Given the description of an element on the screen output the (x, y) to click on. 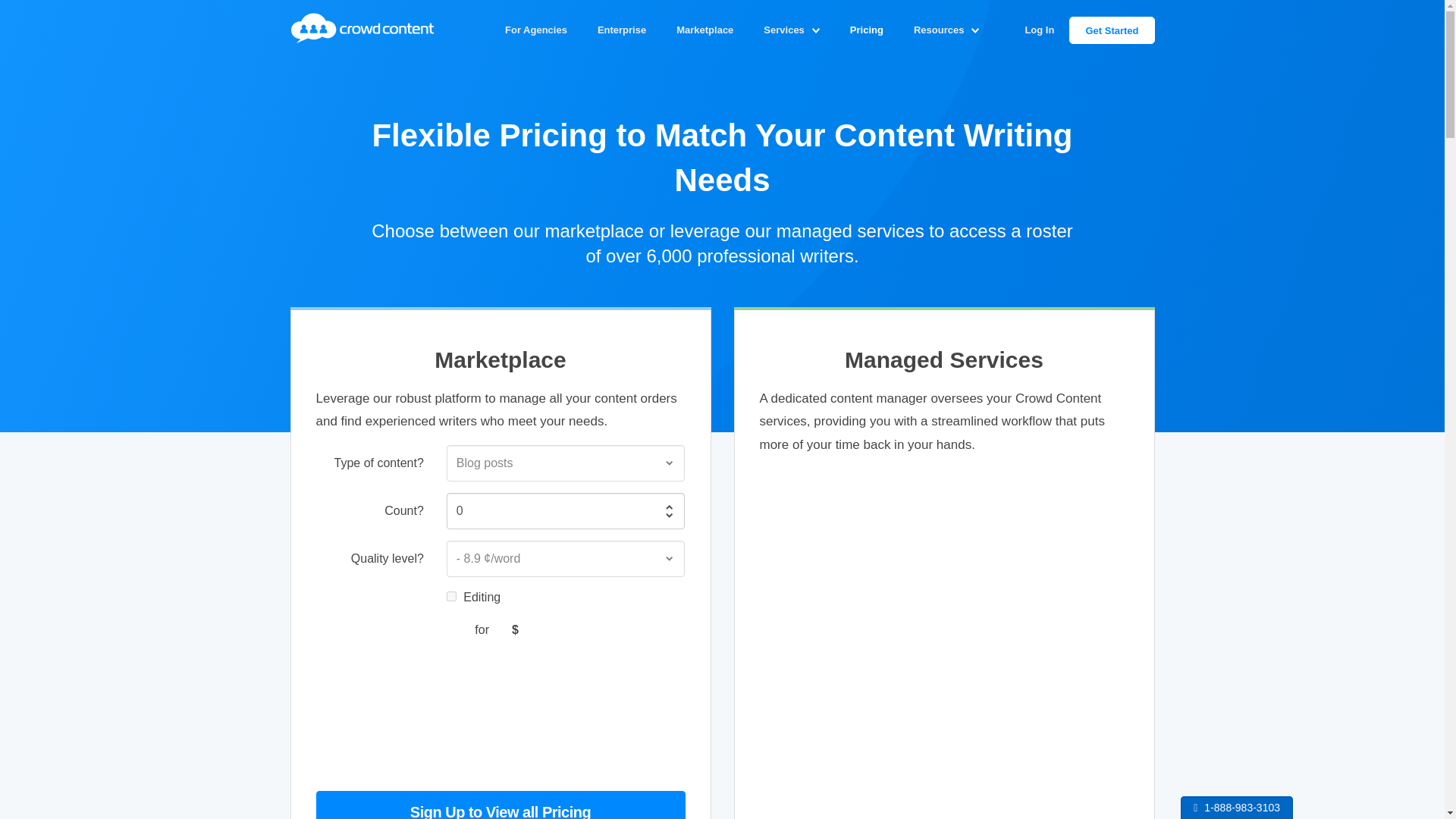
number (565, 511)
Enterprise (621, 30)
Services (783, 30)
Pricing (866, 30)
1-888-983-3103 (1241, 807)
For Agencies (535, 30)
Log In (1038, 30)
0 (565, 511)
type of content (565, 463)
Marketplace (704, 30)
quality level (565, 558)
Sign Up to View all Pricing (499, 805)
Resources (938, 30)
Get Started (1111, 30)
